Given the description of an element on the screen output the (x, y) to click on. 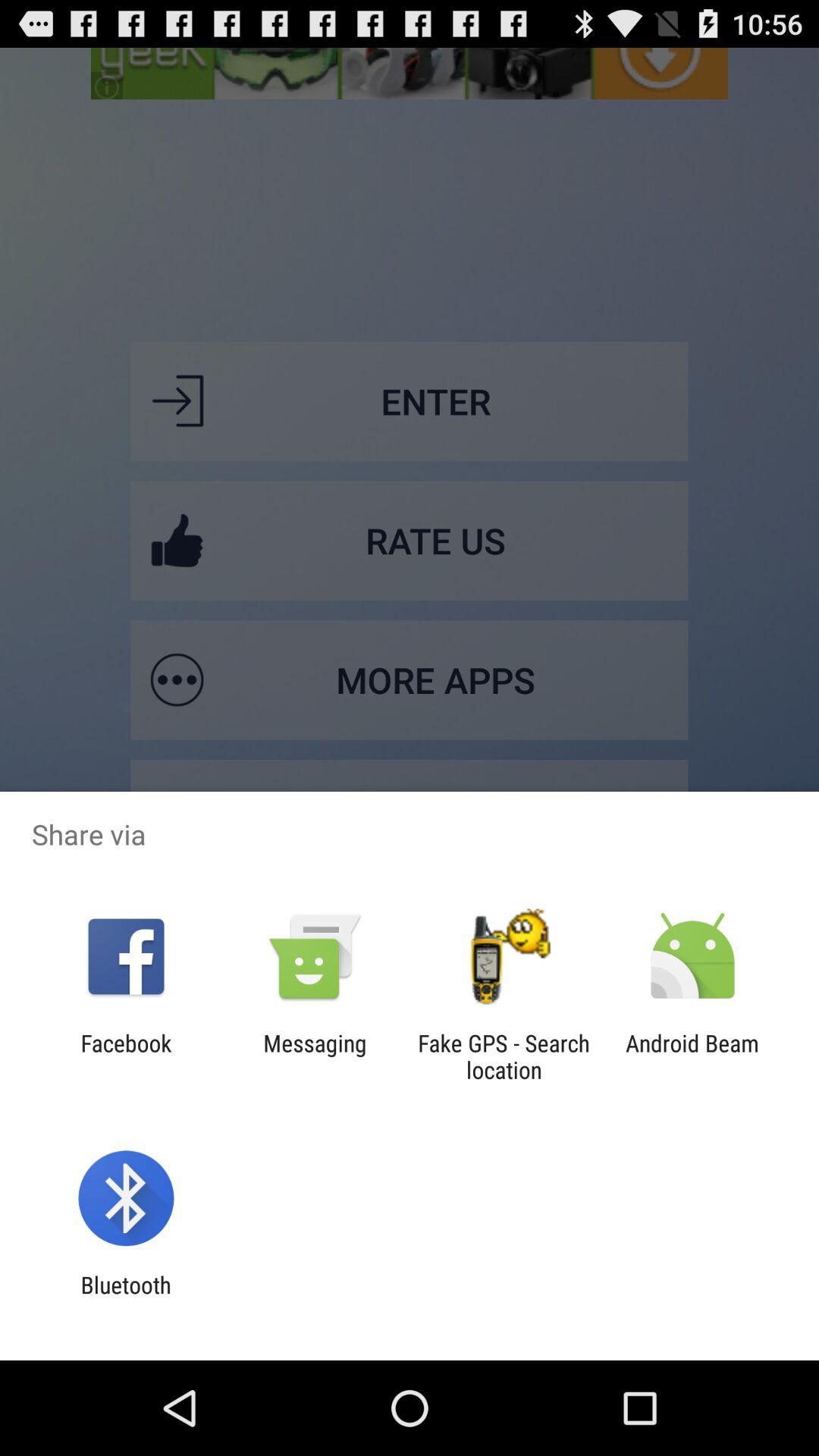
click item to the right of fake gps search icon (692, 1056)
